Given the description of an element on the screen output the (x, y) to click on. 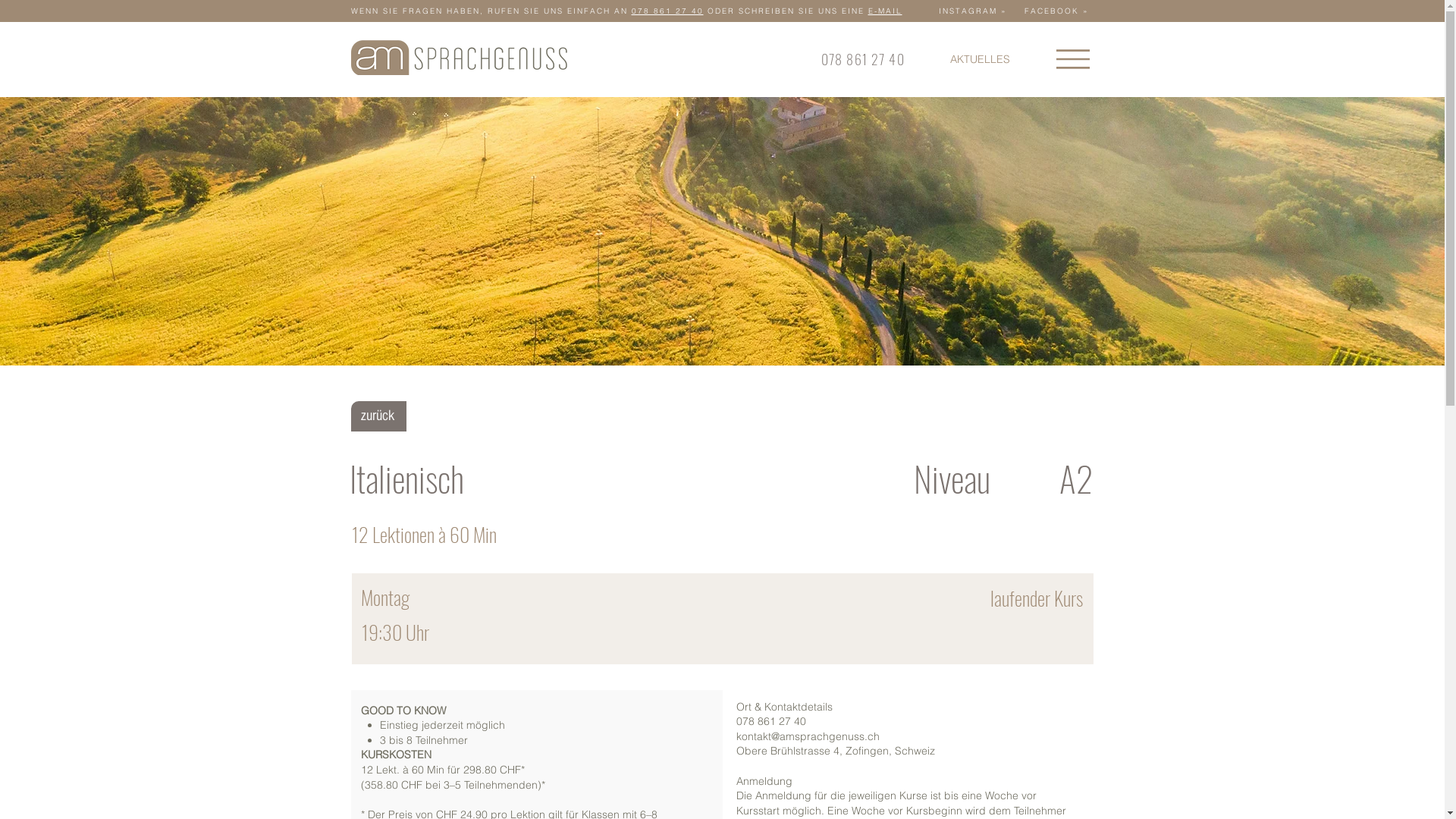
kontakt@amsprachgenuss.ch Element type: text (806, 736)
Sprachschule am Sprachgenuss Element type: hover (458, 57)
078 861 27 40 Element type: text (862, 59)
E-MAIL Element type: text (884, 10)
AKTUELLES Element type: text (979, 59)
